Given the description of an element on the screen output the (x, y) to click on. 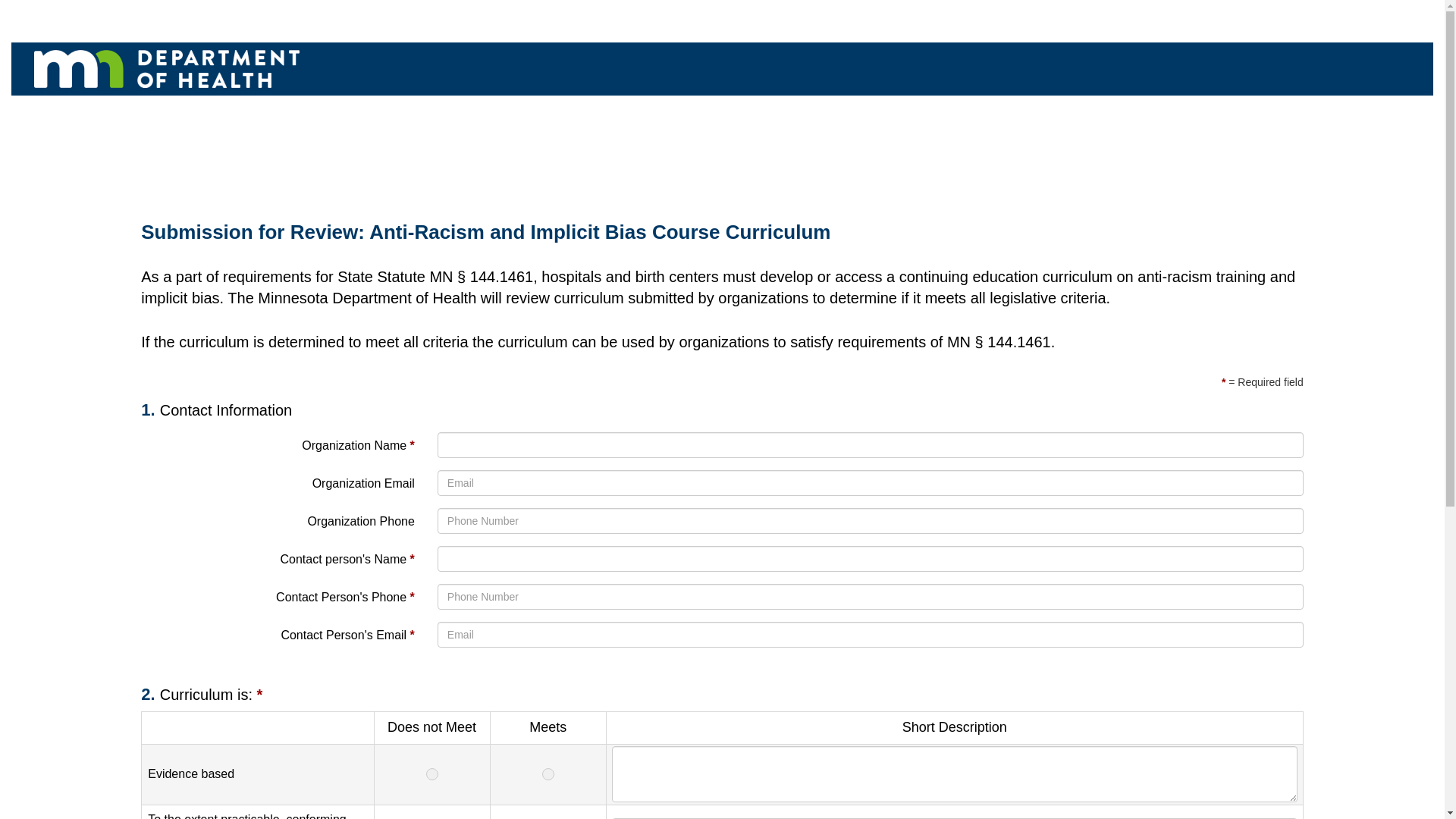
1. (149, 409)
Evidence based (954, 774)
2. (149, 693)
Evidence based Meets (547, 774)
Evidence based Does not Meet (431, 774)
